Given the description of an element on the screen output the (x, y) to click on. 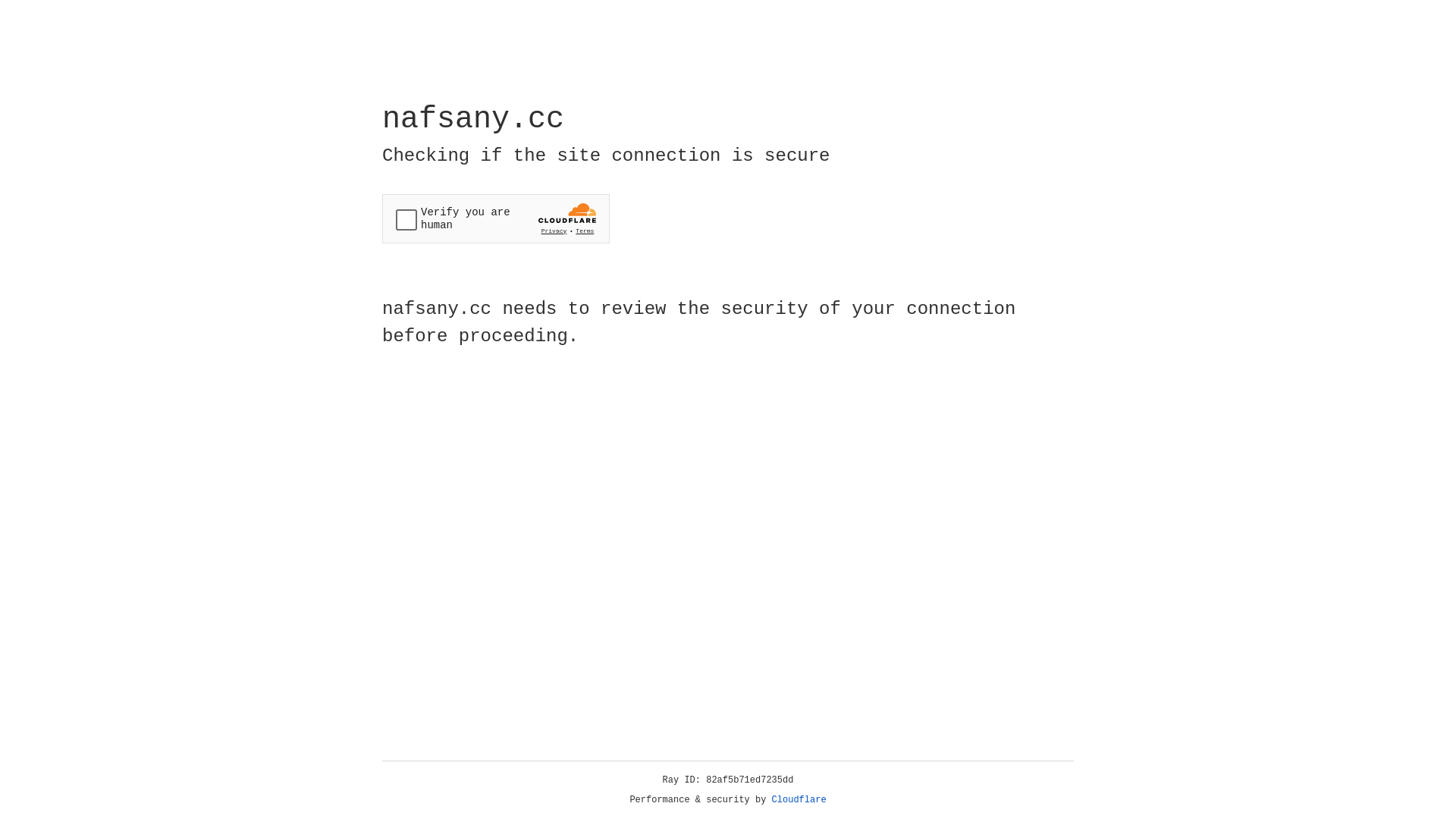
Widget containing a Cloudflare security challenge Element type: hover (495, 218)
Cloudflare Element type: text (798, 799)
